Given the description of an element on the screen output the (x, y) to click on. 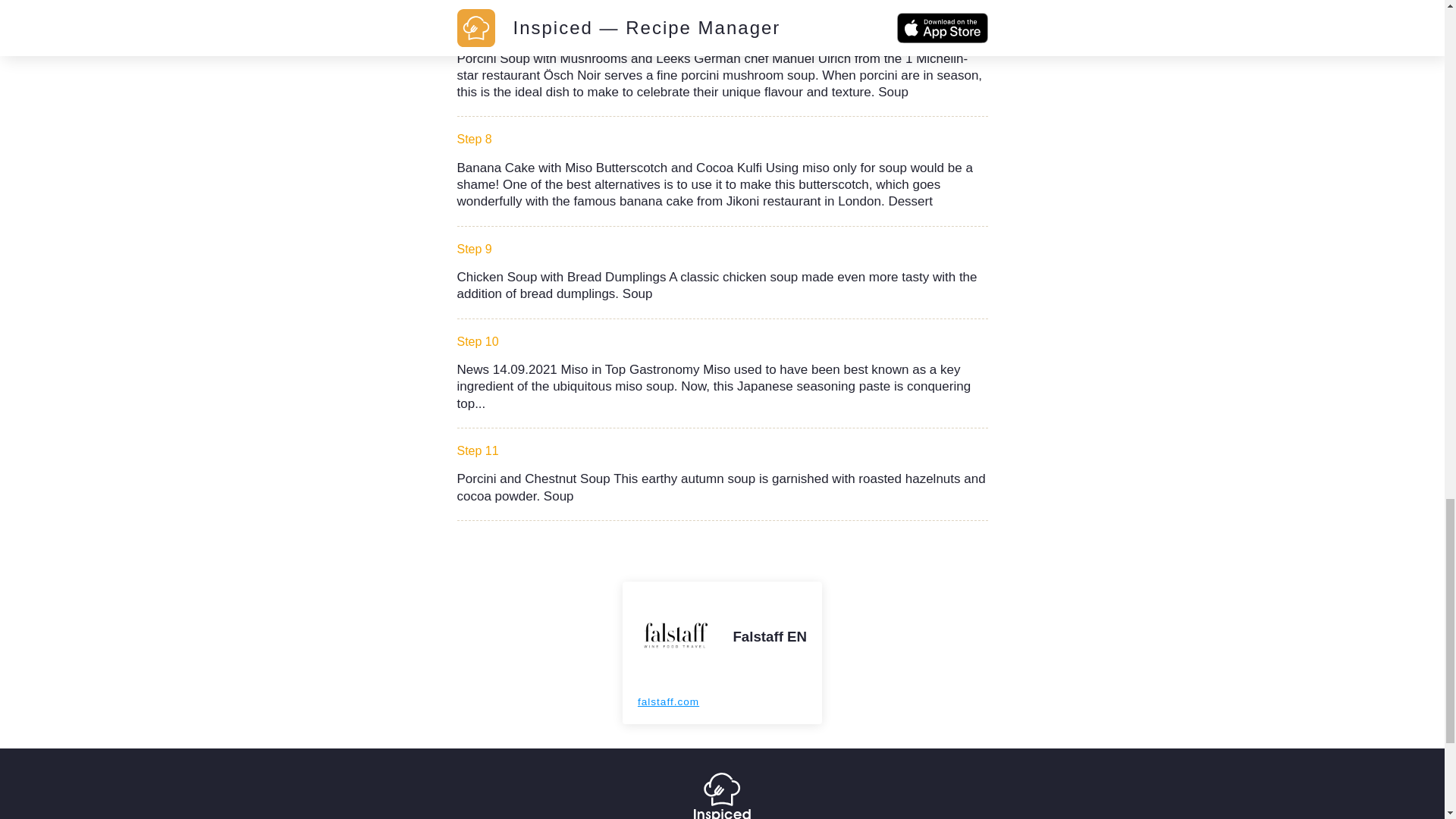
Falstaff EN (769, 636)
falstaff.com (667, 701)
